Given the description of an element on the screen output the (x, y) to click on. 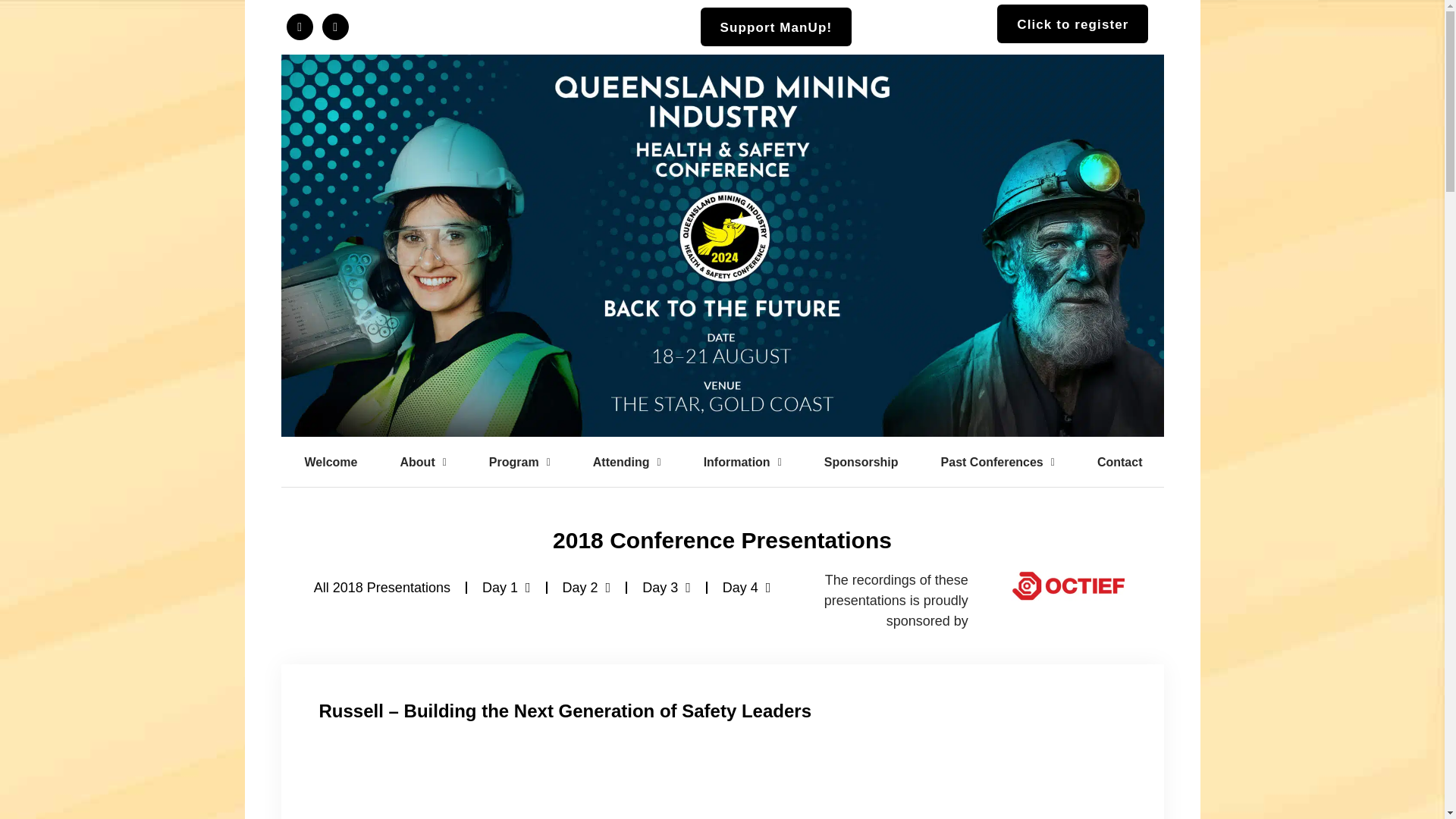
Past Conferences (997, 462)
Support ManUp! (775, 26)
Sponsorship (861, 462)
Information (742, 462)
Click to register (1072, 23)
Welcome (330, 462)
Attending (627, 462)
Program (519, 462)
About (422, 462)
